Given the description of an element on the screen output the (x, y) to click on. 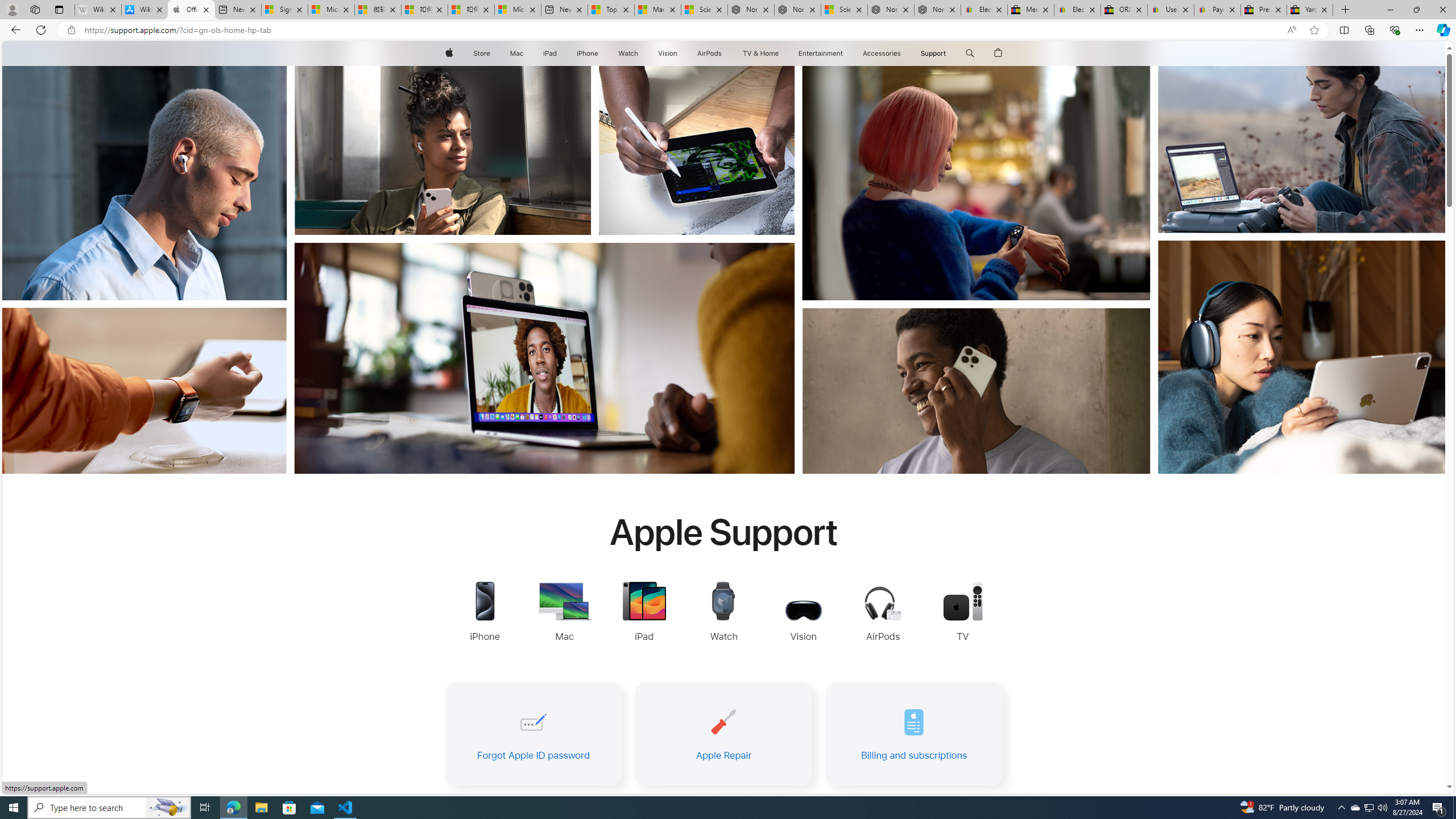
iPhone (587, 53)
Search Support (969, 53)
iPhone (587, 53)
AirPods (709, 53)
Vision (667, 53)
TV and Home (759, 53)
Billing and subscriptions (914, 734)
